Given the description of an element on the screen output the (x, y) to click on. 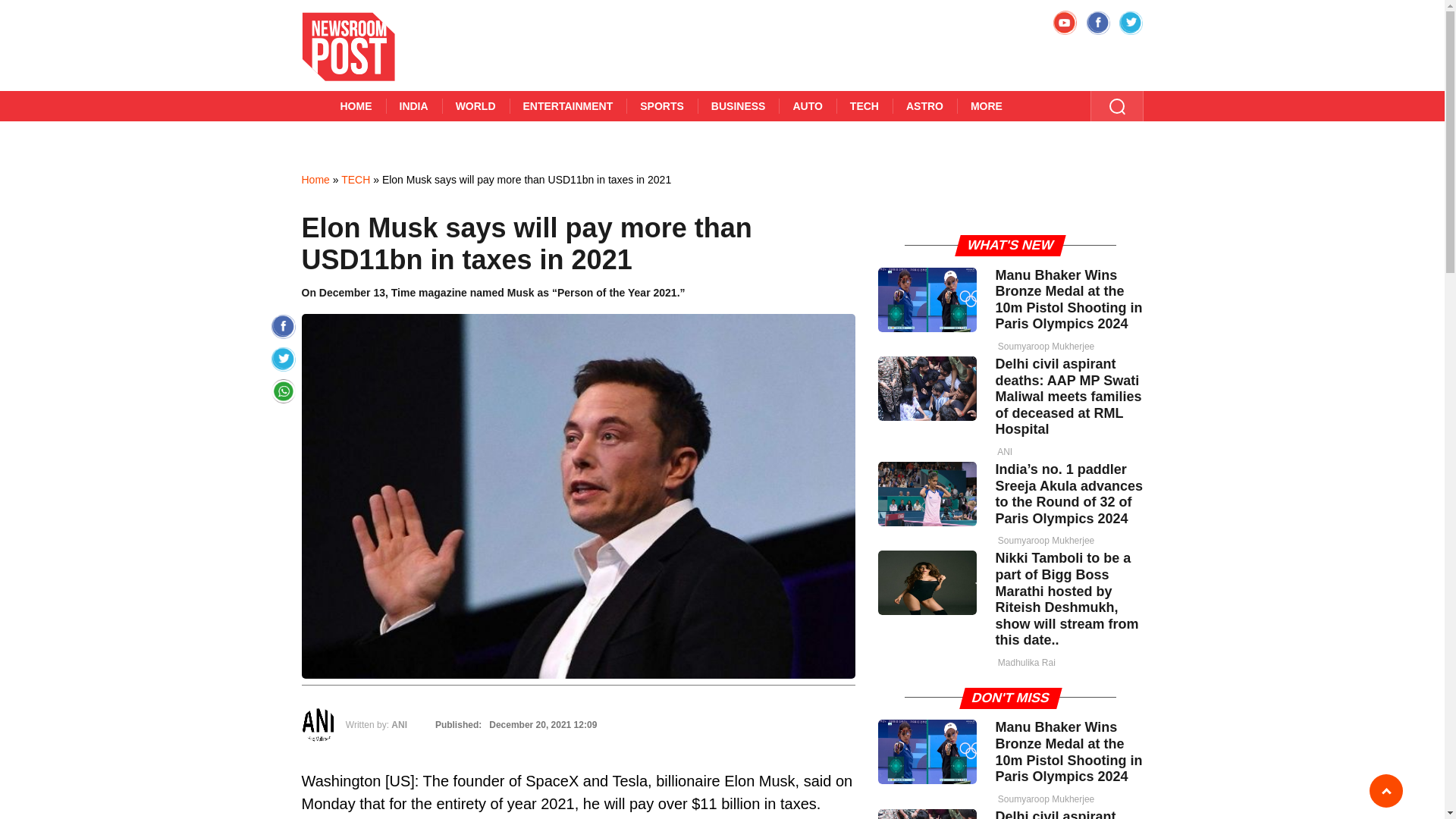
INDIA (413, 105)
TECH (863, 105)
ASTRO (924, 105)
MORE (986, 105)
BUSINESS (737, 105)
HOME (355, 105)
WORLD (475, 105)
Published:   December 20, 2021 12:09 (513, 724)
Home (315, 179)
TECH (354, 179)
ENTERTAINMENT (568, 105)
